Given the description of an element on the screen output the (x, y) to click on. 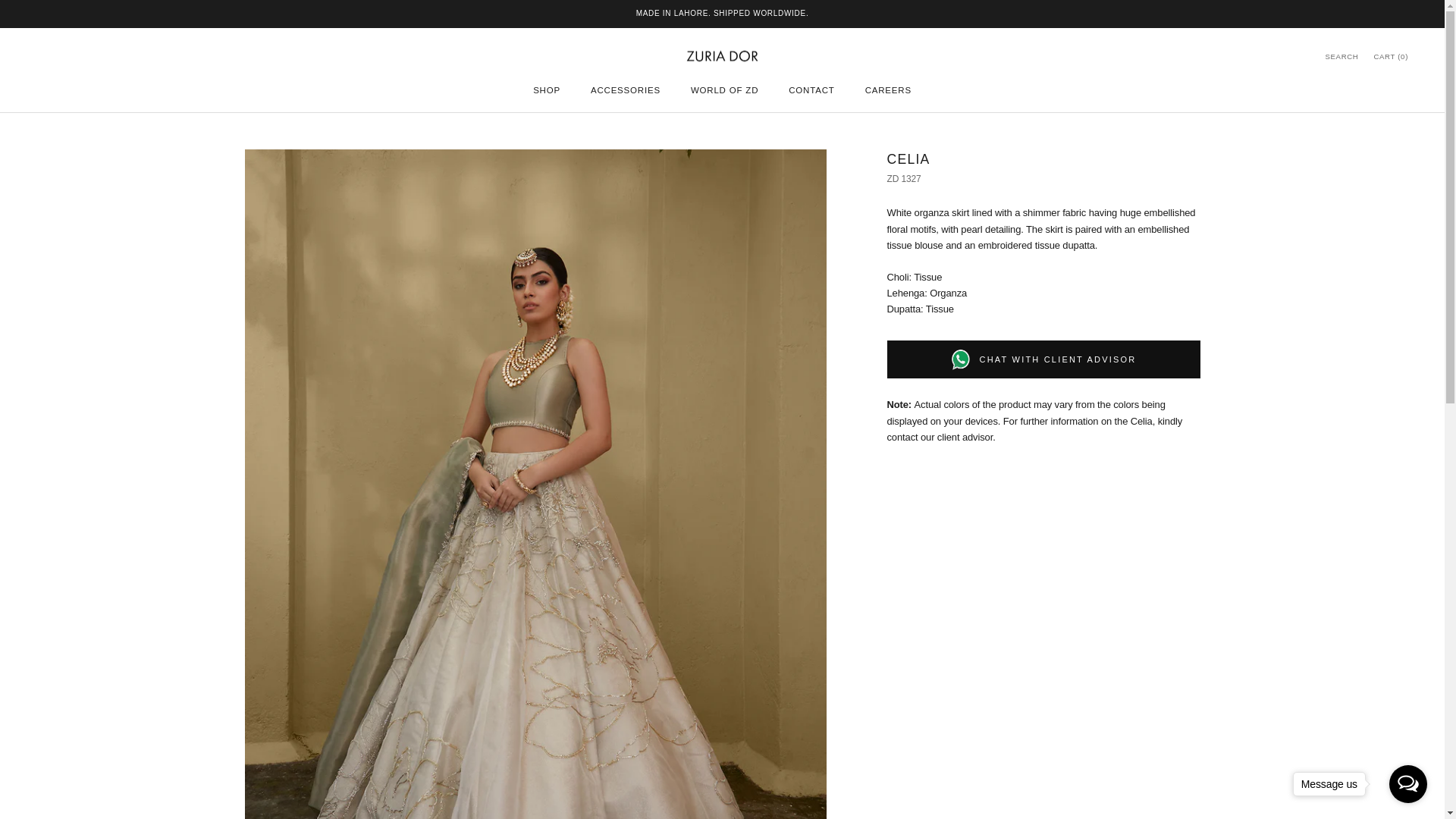
Zuria Dor (722, 55)
